Given the description of an element on the screen output the (x, y) to click on. 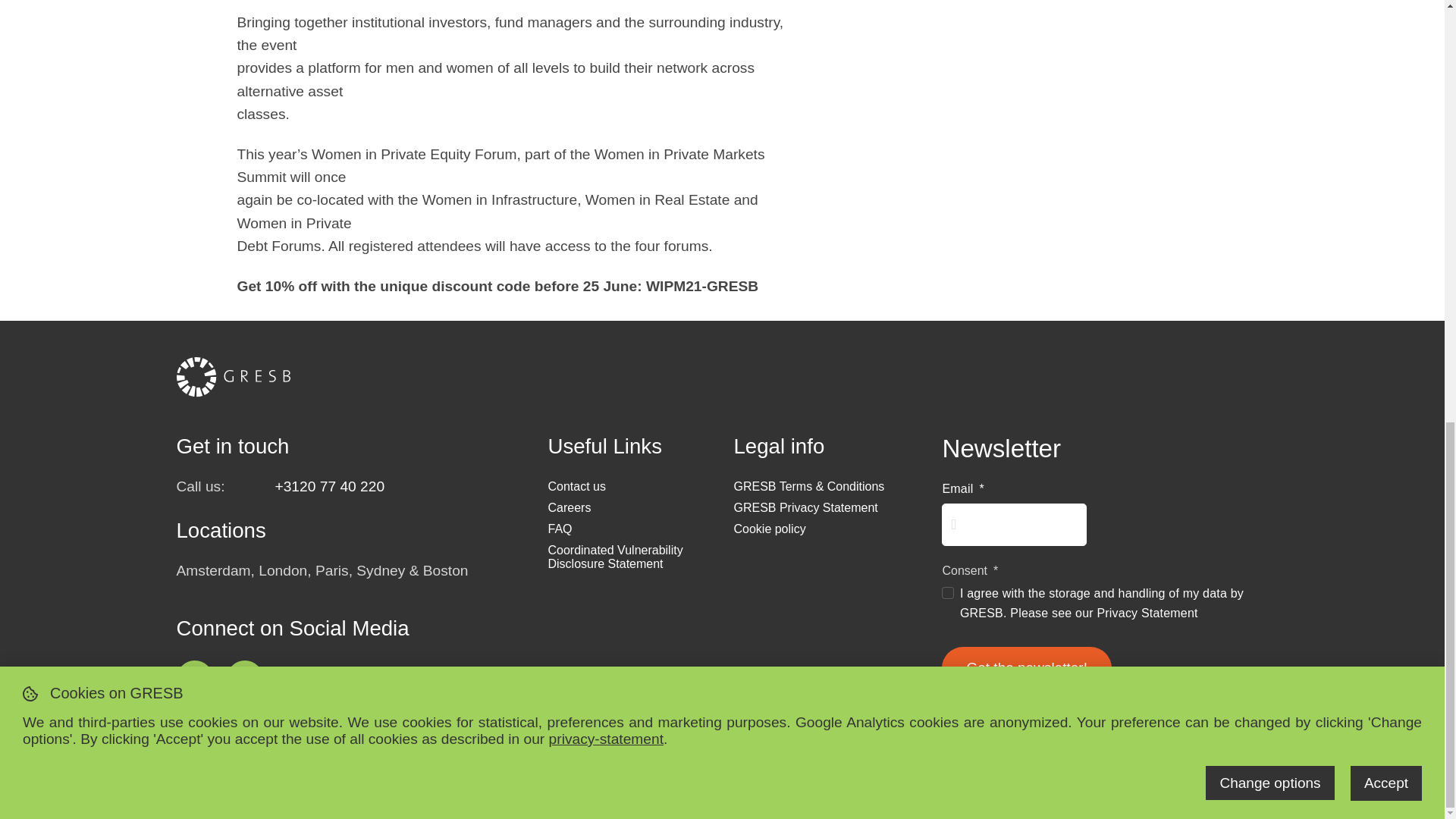
Get the newsletter! (1026, 668)
